Given the description of an element on the screen output the (x, y) to click on. 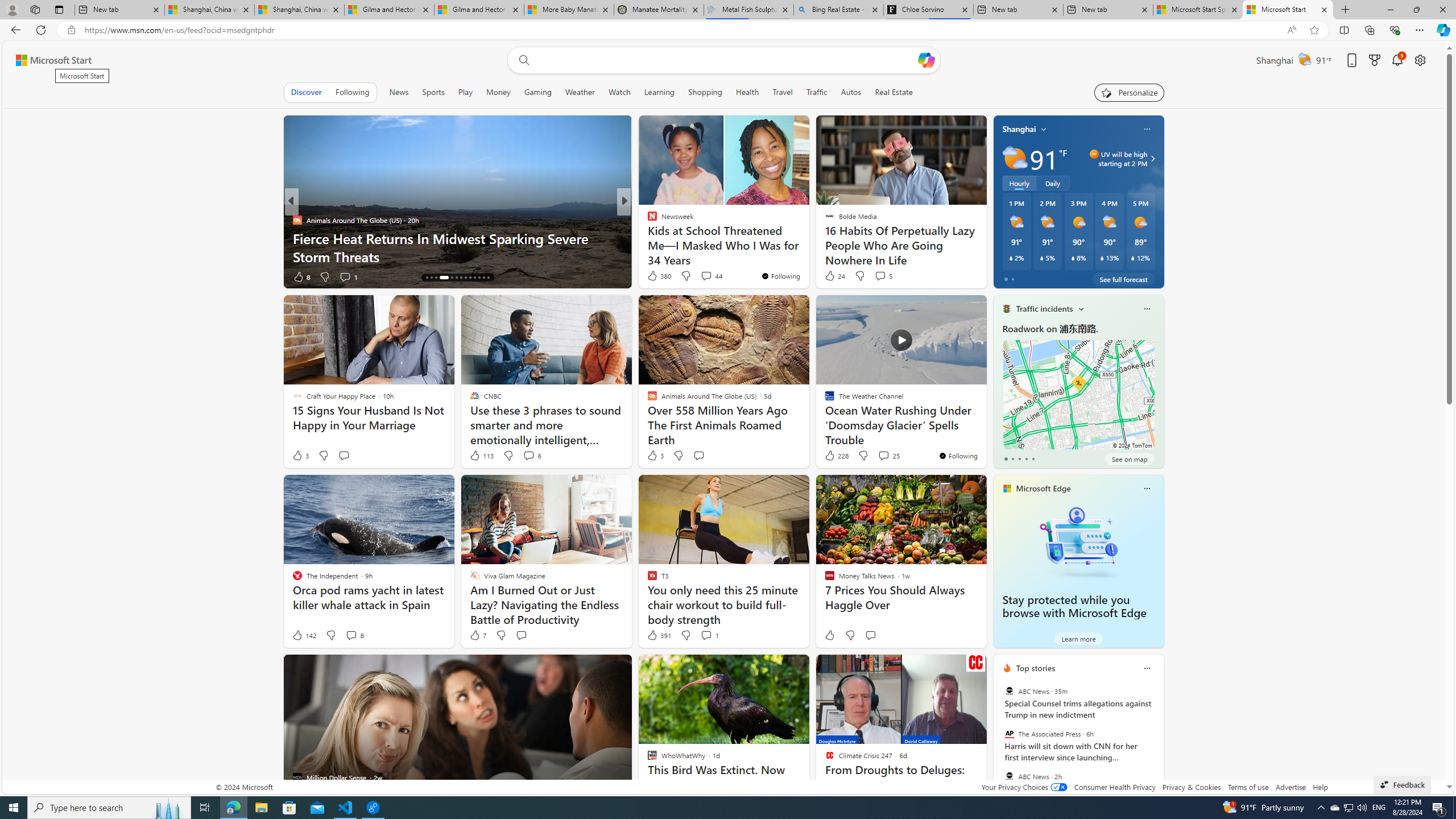
616 Like (654, 276)
Peeing On A Jellyfish Sting: Does It Help Or Hurt? (807, 256)
Partly sunny (1014, 158)
Help (1320, 786)
148 Like (654, 276)
View comments 8 Comment (350, 635)
192 Like (654, 276)
AutomationID: tab-23 (474, 277)
The Associated Press (1008, 733)
